Given the description of an element on the screen output the (x, y) to click on. 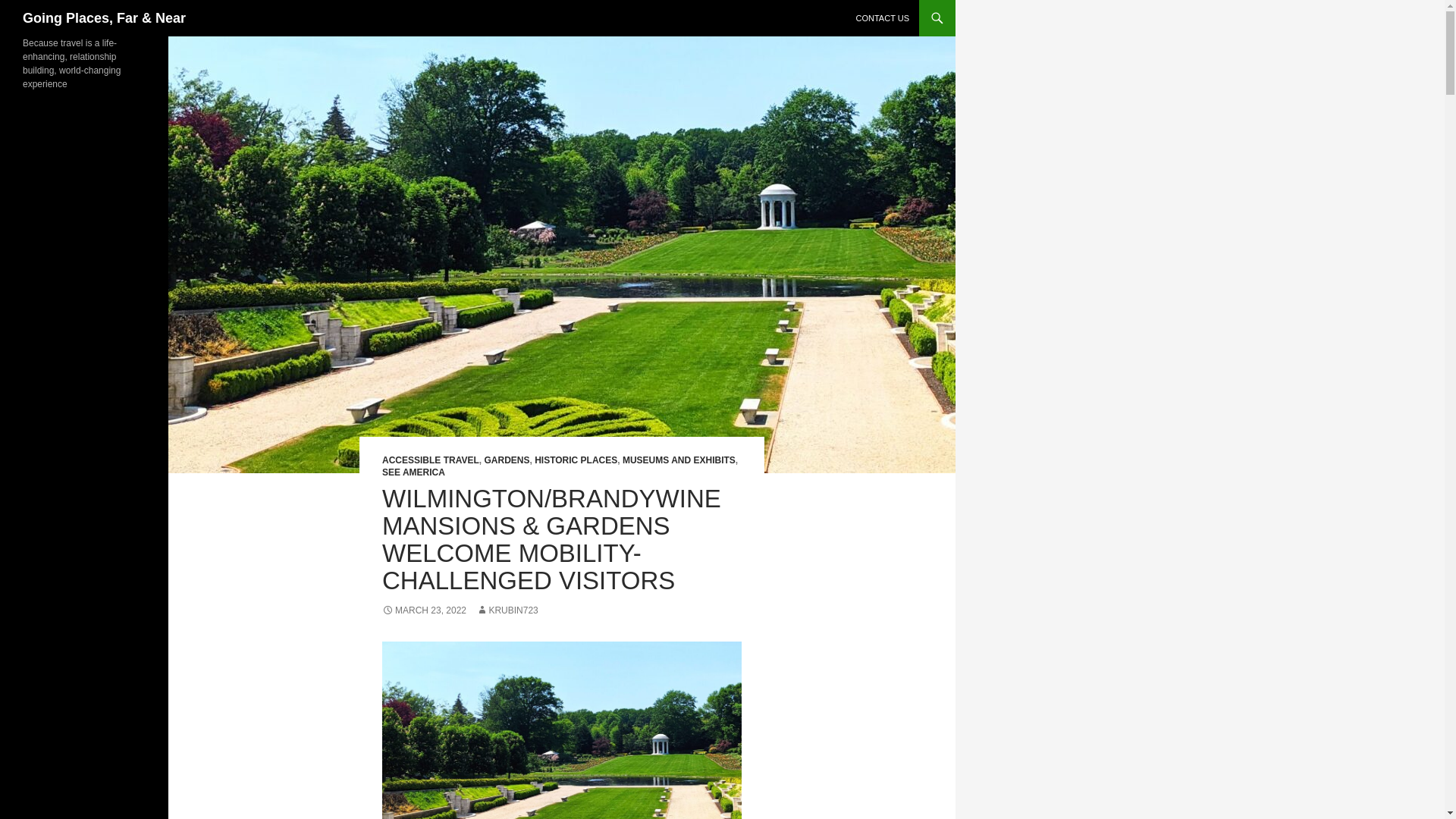
SEE AMERICA (413, 471)
ACCESSIBLE TRAVEL (430, 460)
MUSEUMS AND EXHIBITS (679, 460)
CONTACT US (881, 18)
HISTORIC PLACES (575, 460)
GARDENS (506, 460)
KRUBIN723 (506, 610)
MARCH 23, 2022 (423, 610)
